Given the description of an element on the screen output the (x, y) to click on. 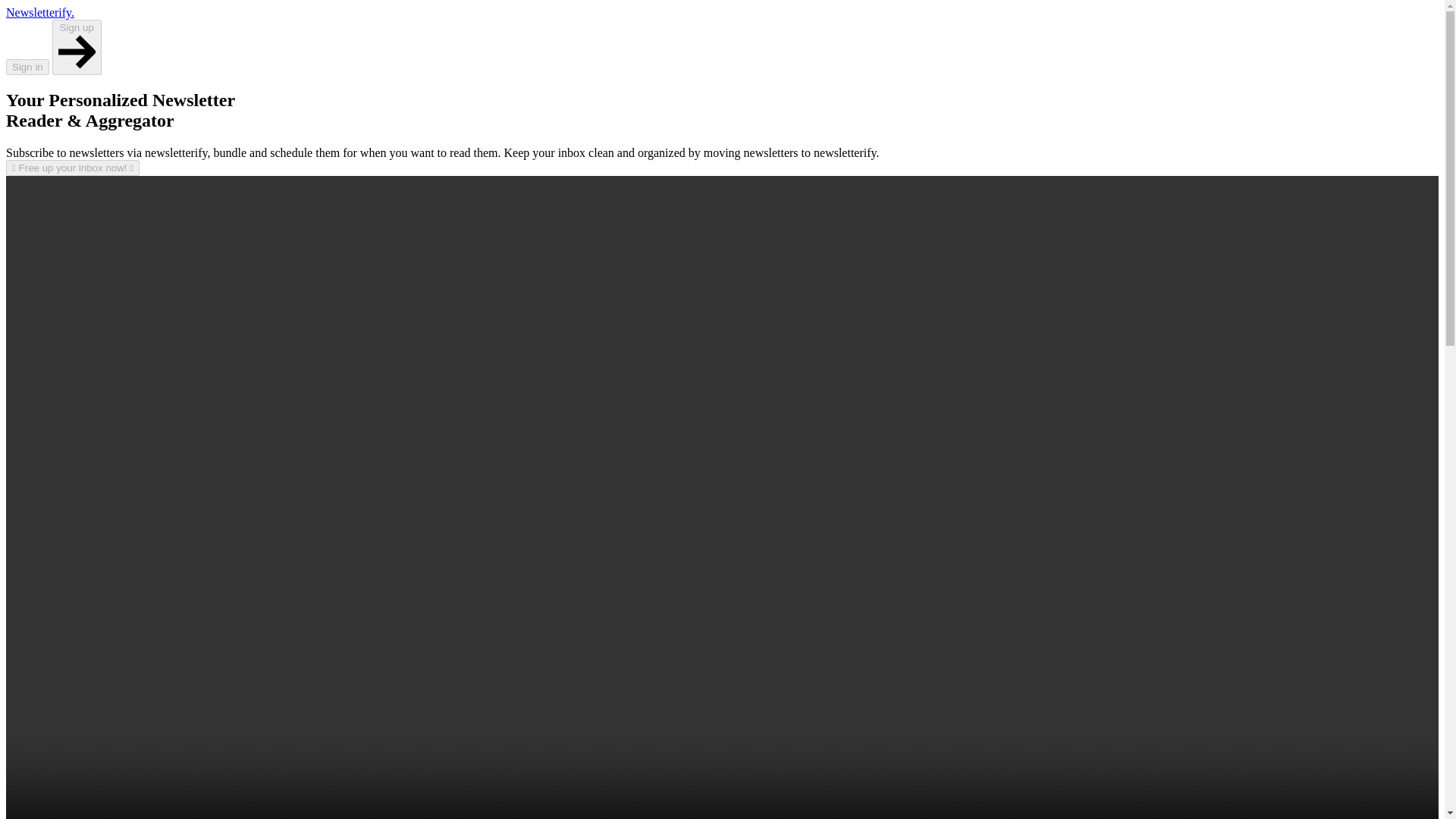
Sign up (76, 47)
Newsletterify. (39, 11)
Sign in (27, 65)
Sign up (76, 65)
Sign in (27, 66)
